Given the description of an element on the screen output the (x, y) to click on. 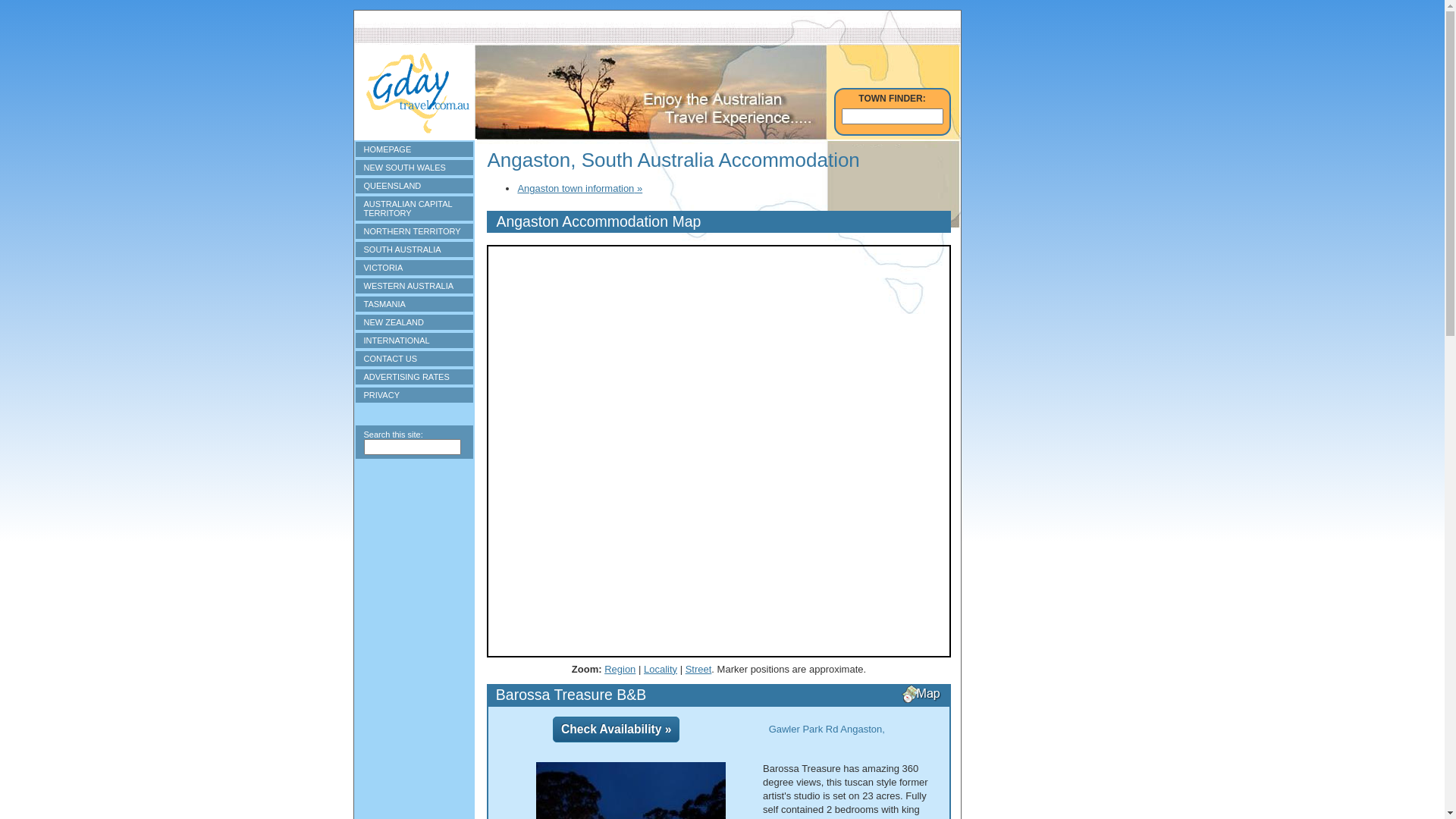
VICTORIA Element type: text (413, 267)
AUSTRALIAN CAPITAL TERRITORY Element type: text (413, 208)
NORTHERN TERRITORY Element type: text (413, 230)
NEW SOUTH WALES Element type: text (413, 167)
SOUTH AUSTRALIA Element type: text (413, 249)
QUEENSLAND Element type: text (413, 185)
Check Availability Element type: text (615, 729)
WESTERN AUSTRALIA Element type: text (413, 285)
ADVERTISING RATES Element type: text (413, 376)
Angaston town information Element type: text (579, 188)
Locality Element type: text (660, 668)
TASMANIA Element type: text (413, 303)
PRIVACY Element type: text (413, 394)
Street Element type: text (698, 668)
Region Element type: text (619, 668)
INTERNATIONAL Element type: text (413, 340)
Advertisement Element type: hover (1029, 236)
NEW ZEALAND Element type: text (413, 321)
HOMEPAGE Element type: text (413, 148)
Advertisement Element type: hover (413, 566)
CONTACT US Element type: text (413, 358)
